Given the description of an element on the screen output the (x, y) to click on. 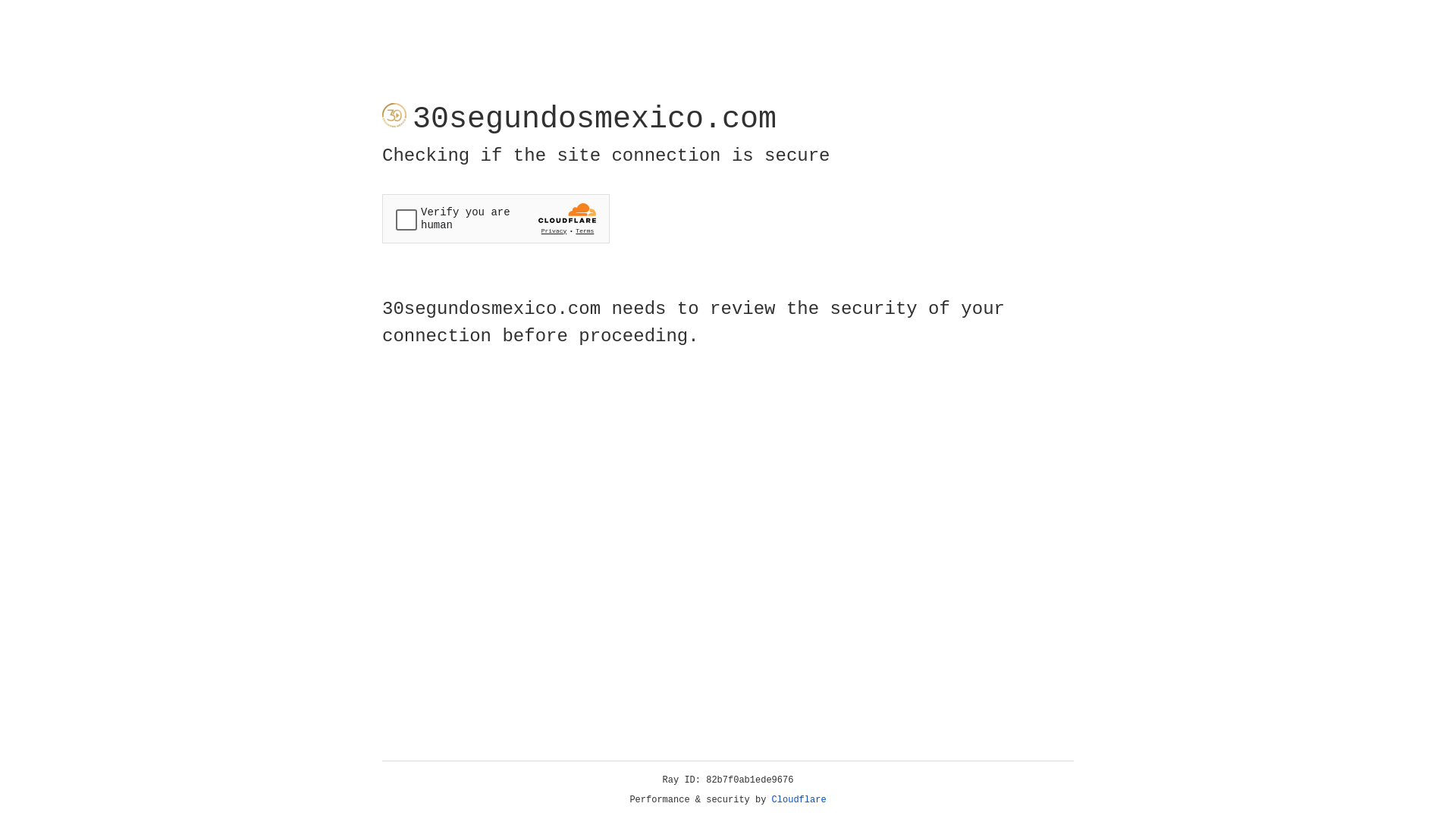
Widget containing a Cloudflare security challenge Element type: hover (495, 218)
Cloudflare Element type: text (798, 799)
